Given the description of an element on the screen output the (x, y) to click on. 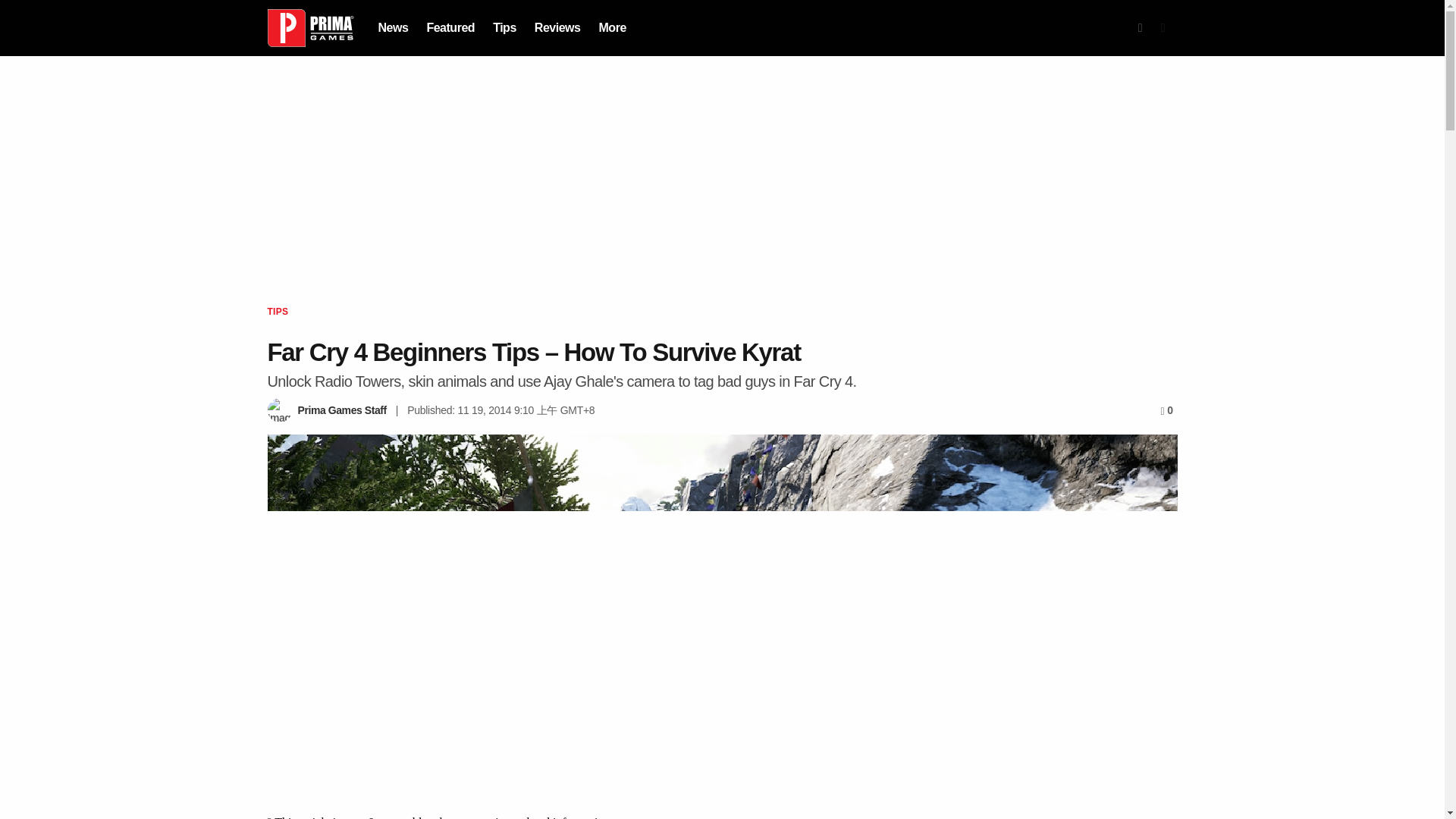
News (392, 27)
Reviews (557, 27)
Featured (450, 27)
Tips (504, 27)
